Given the description of an element on the screen output the (x, y) to click on. 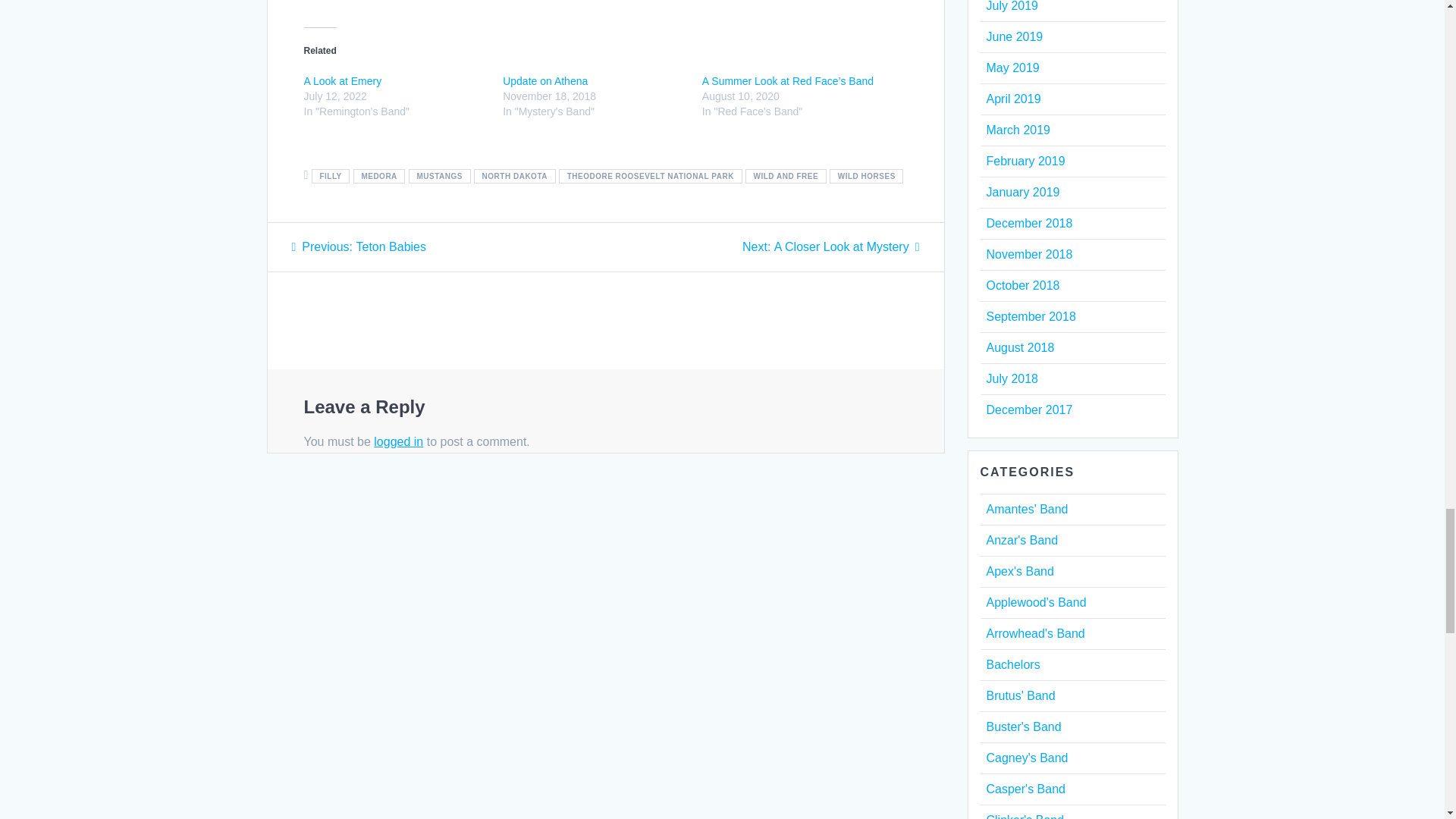
Update on Athena (545, 80)
A Look at Emery (341, 80)
